Given the description of an element on the screen output the (x, y) to click on. 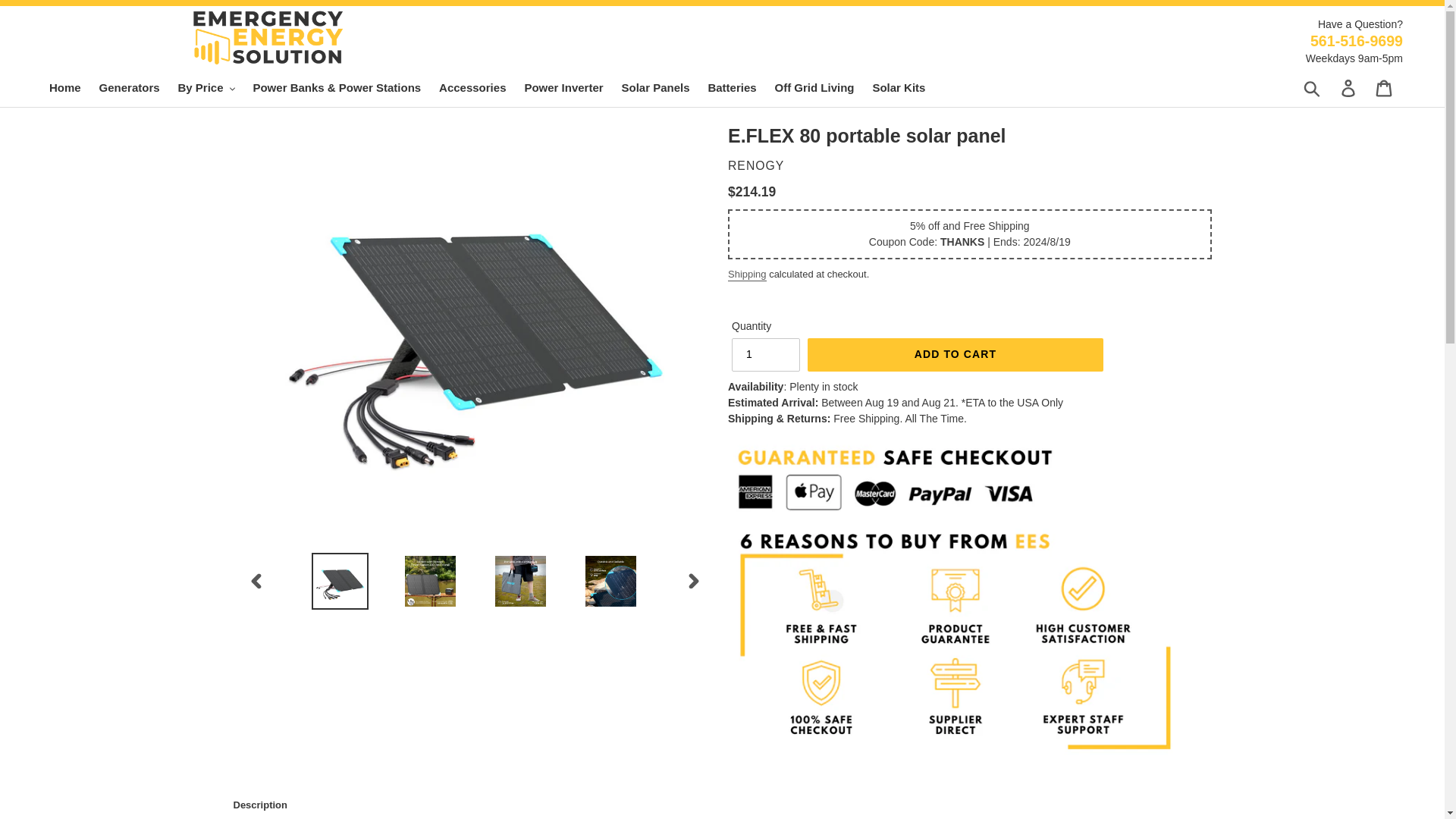
Accessories (471, 87)
Home (65, 87)
Submit (1313, 87)
Batteries (731, 87)
Power Inverter (563, 87)
1 (765, 354)
Solar Panels (654, 87)
Generators (129, 87)
Log in (1349, 88)
Cart (1385, 88)
